Given the description of an element on the screen output the (x, y) to click on. 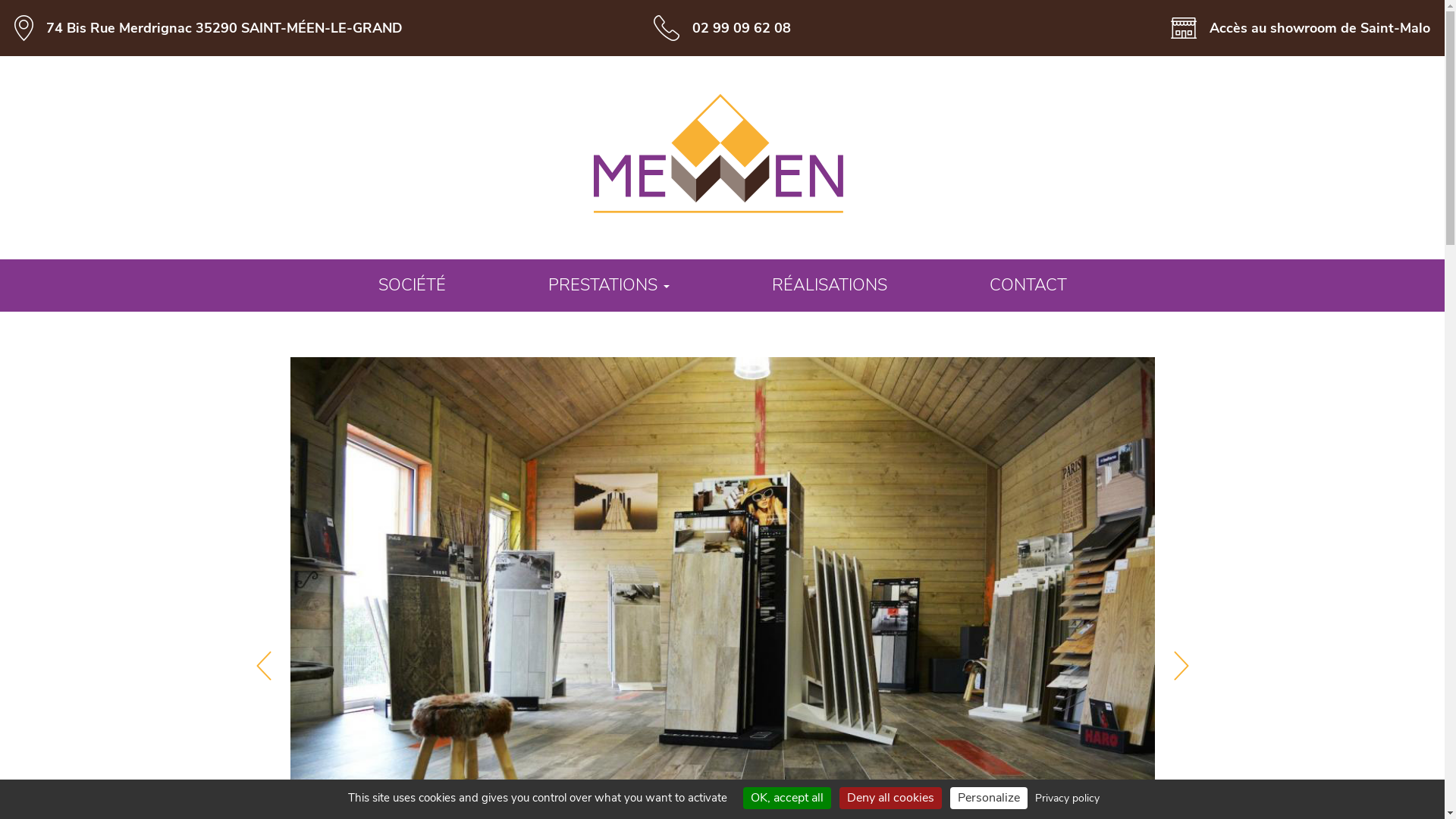
OK, accept all Element type: text (787, 798)
Personalize Element type: text (988, 798)
Deny all cookies Element type: text (890, 798)
Privacy policy Element type: text (1067, 798)
CONTACT Element type: text (1028, 285)
02 99 09 62 08 Element type: text (741, 27)
PRESTATIONS Element type: text (608, 285)
